Given the description of an element on the screen output the (x, y) to click on. 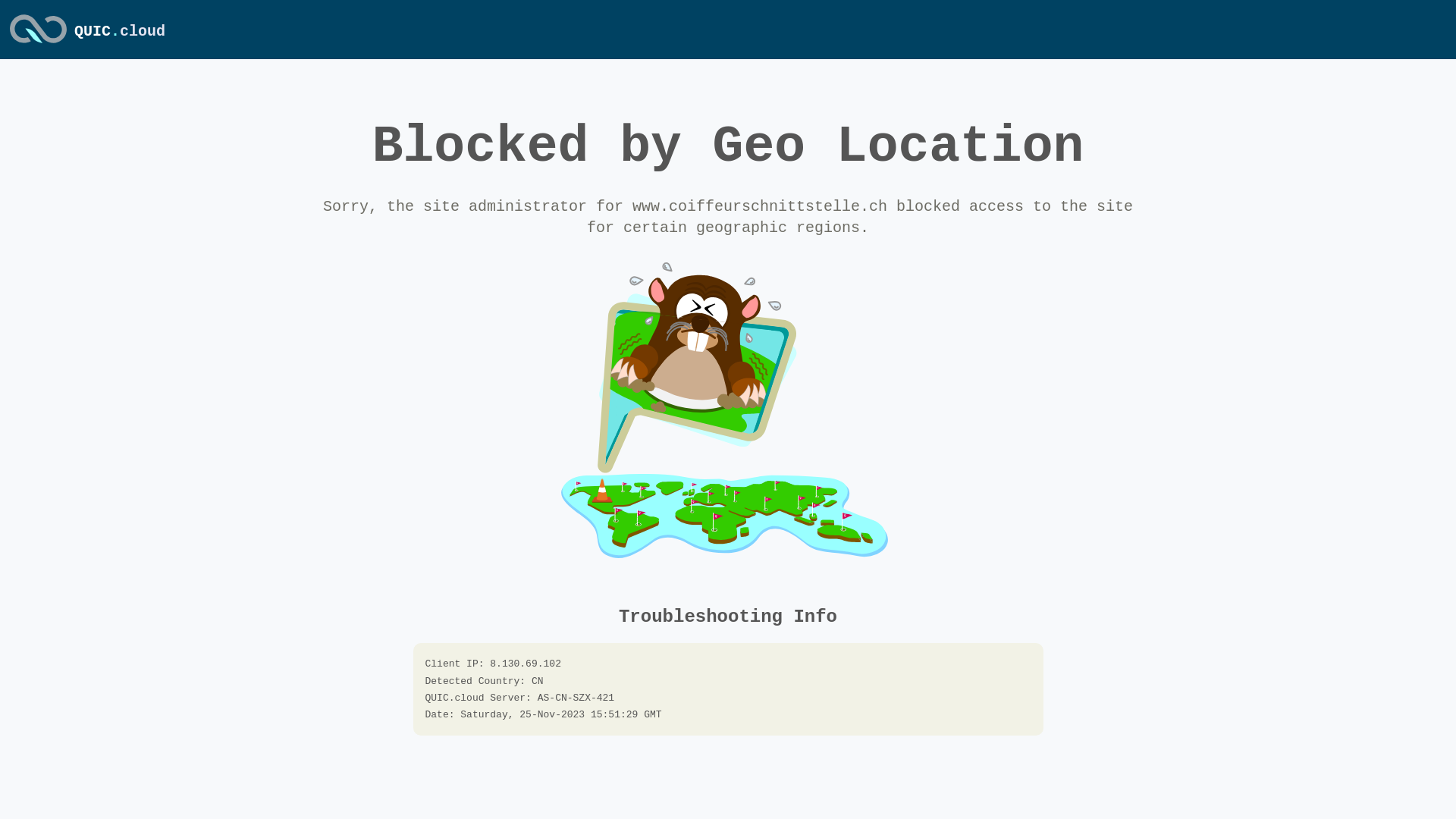
QUIC.cloud Element type: text (119, 31)
QUIC.cloud Element type: hover (38, 44)
